Given the description of an element on the screen output the (x, y) to click on. 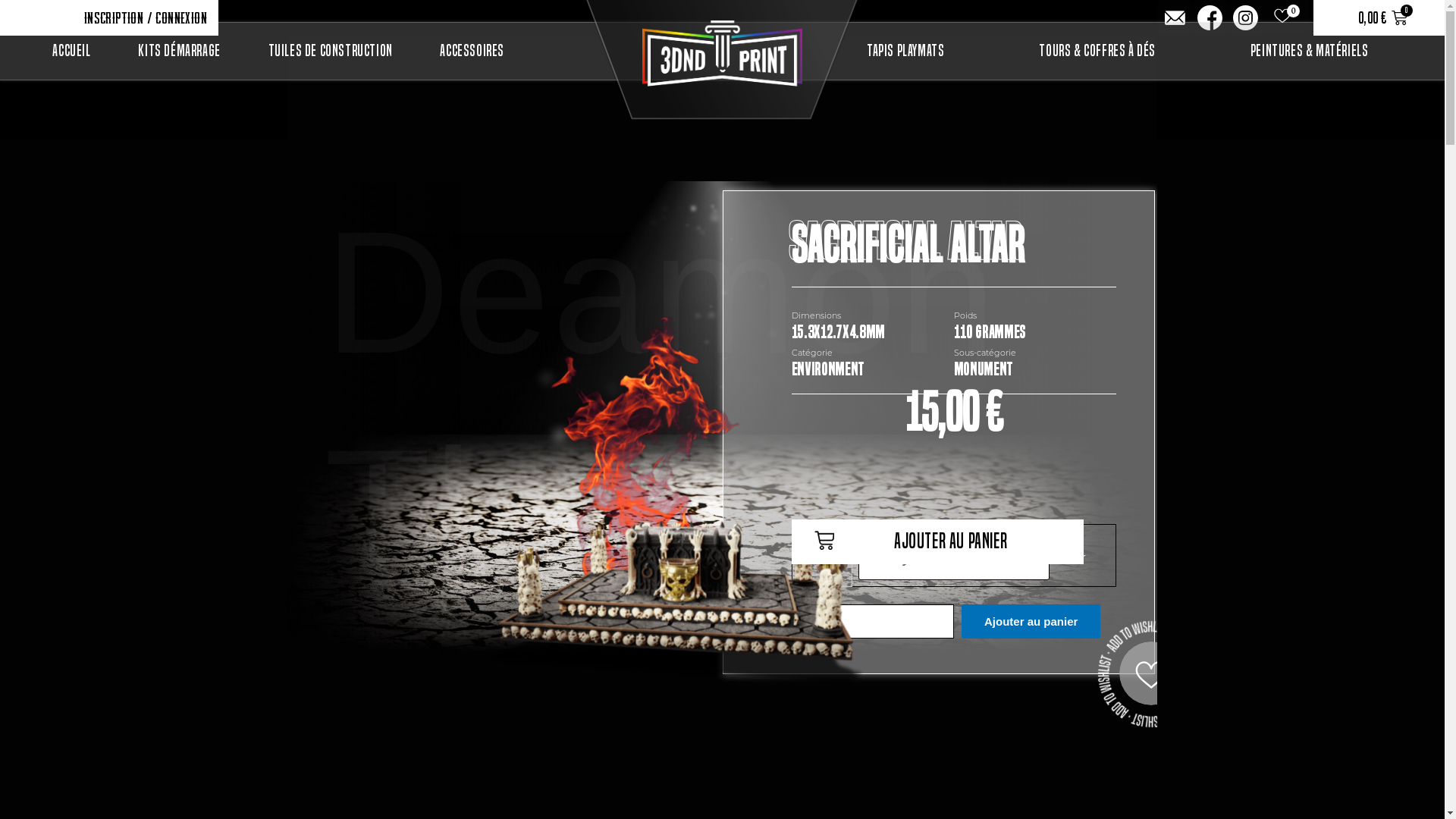
Ion-ios-mail Element type: text (1174, 17)
Inscription / Connexion Element type: text (141, 17)
Accessoires Element type: text (471, 50)
Tapis Playmats Element type: text (905, 50)
Ajouter au panier Element type: text (1030, 621)
Accueil Element type: text (71, 50)
0 Element type: text (1285, 15)
Ajouter au panier Element type: text (937, 541)
Effacer Element type: text (1067, 557)
Tuiles de construction Element type: text (330, 50)
